Given the description of an element on the screen output the (x, y) to click on. 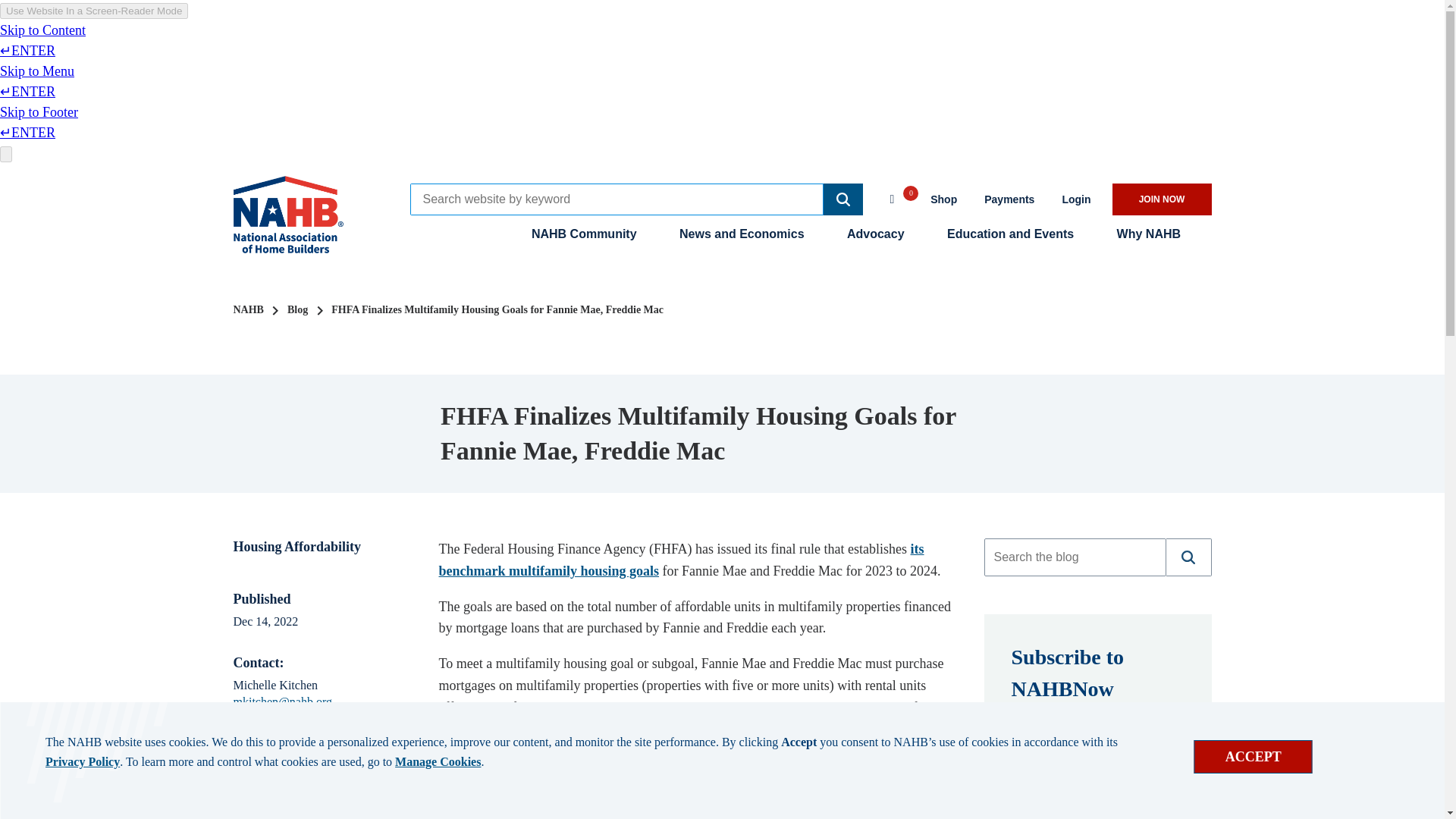
Shop (944, 199)
Insert a query. Press enter to send (1074, 556)
JOIN NOW (1161, 199)
Payments (1009, 199)
Opens a page (1161, 199)
Insert a query. Press enter to send (616, 199)
Opens a page (1093, 808)
0 (899, 197)
Opens a page in a new window (1009, 199)
Click here to view the cart (899, 197)
Opens a page in a new window (680, 559)
Opens a page in a new window (725, 764)
Opens a page (1075, 199)
